Given the description of an element on the screen output the (x, y) to click on. 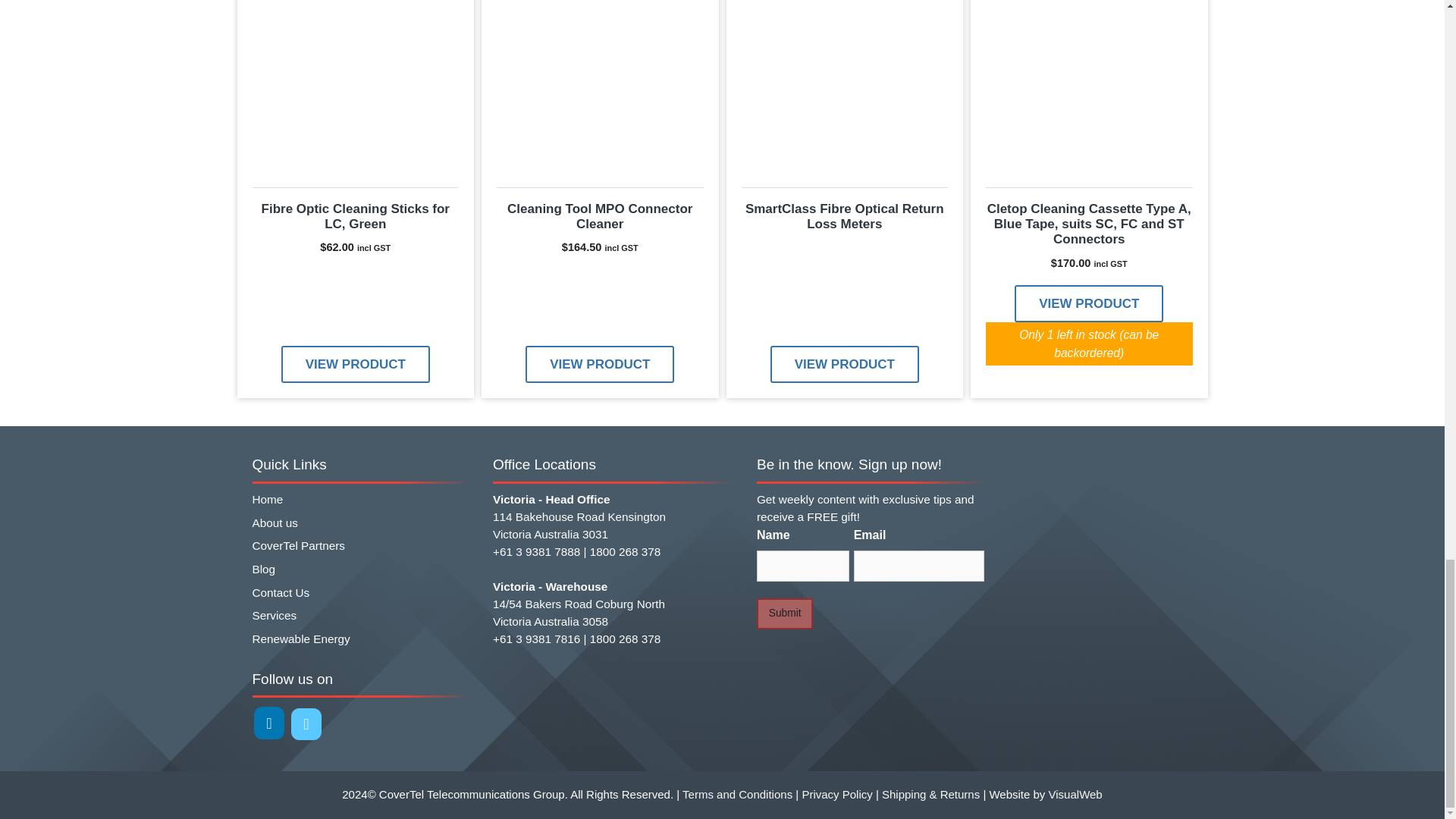
Submit (784, 613)
